Given the description of an element on the screen output the (x, y) to click on. 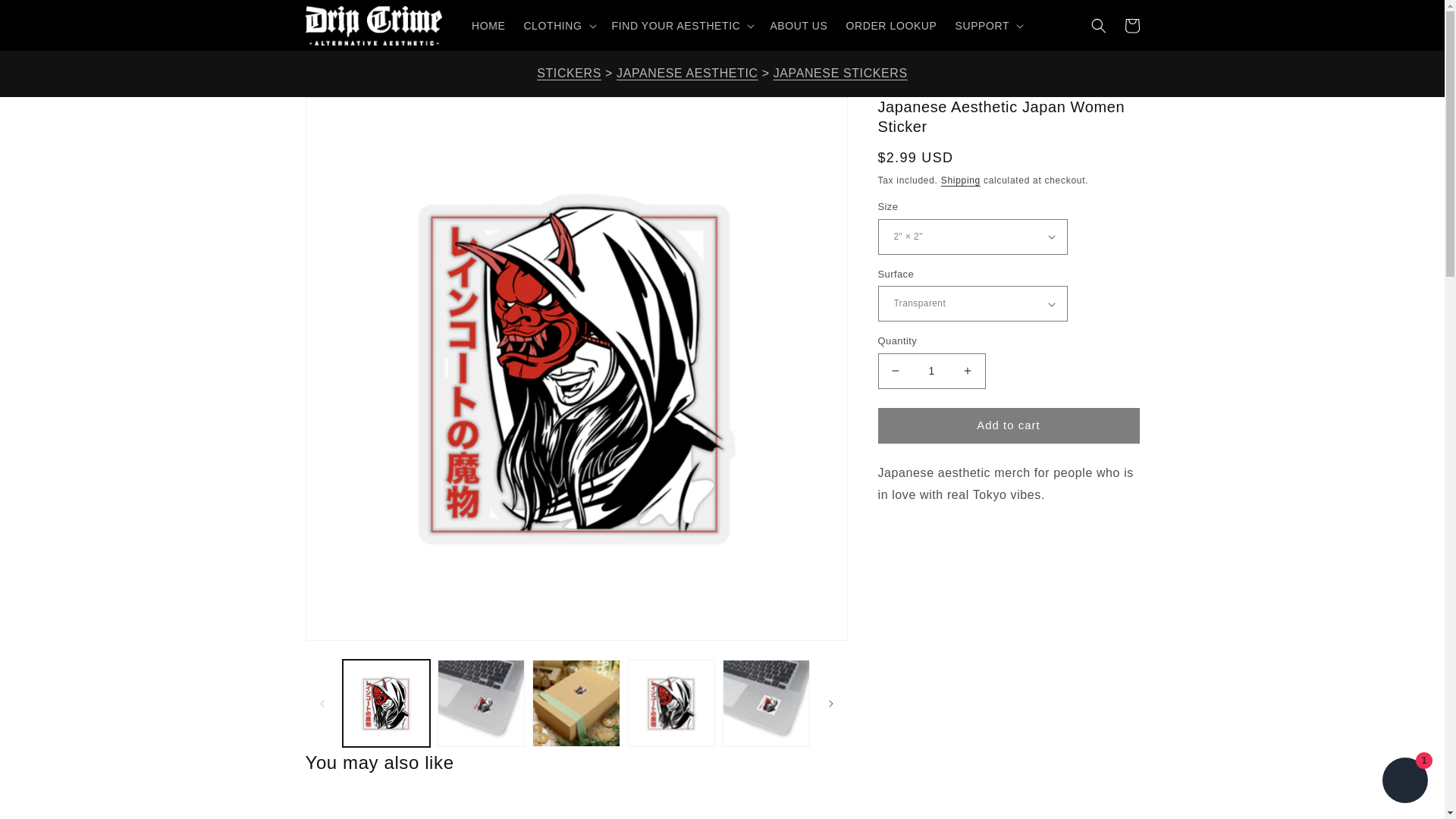
Skip to content (45, 17)
Shopify online store chat (1404, 781)
1 (931, 370)
